Given the description of an element on the screen output the (x, y) to click on. 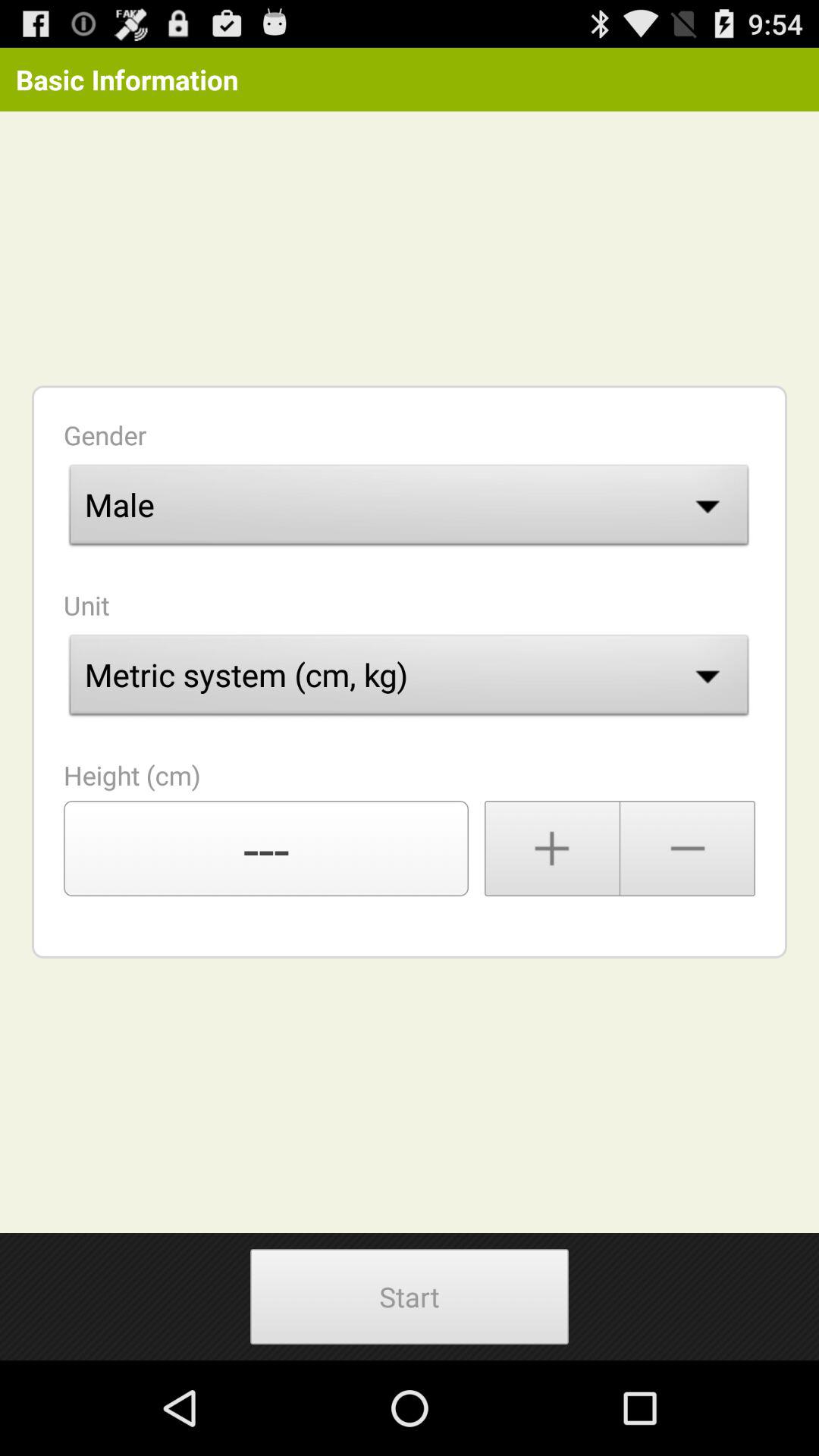
minimum (687, 848)
